Given the description of an element on the screen output the (x, y) to click on. 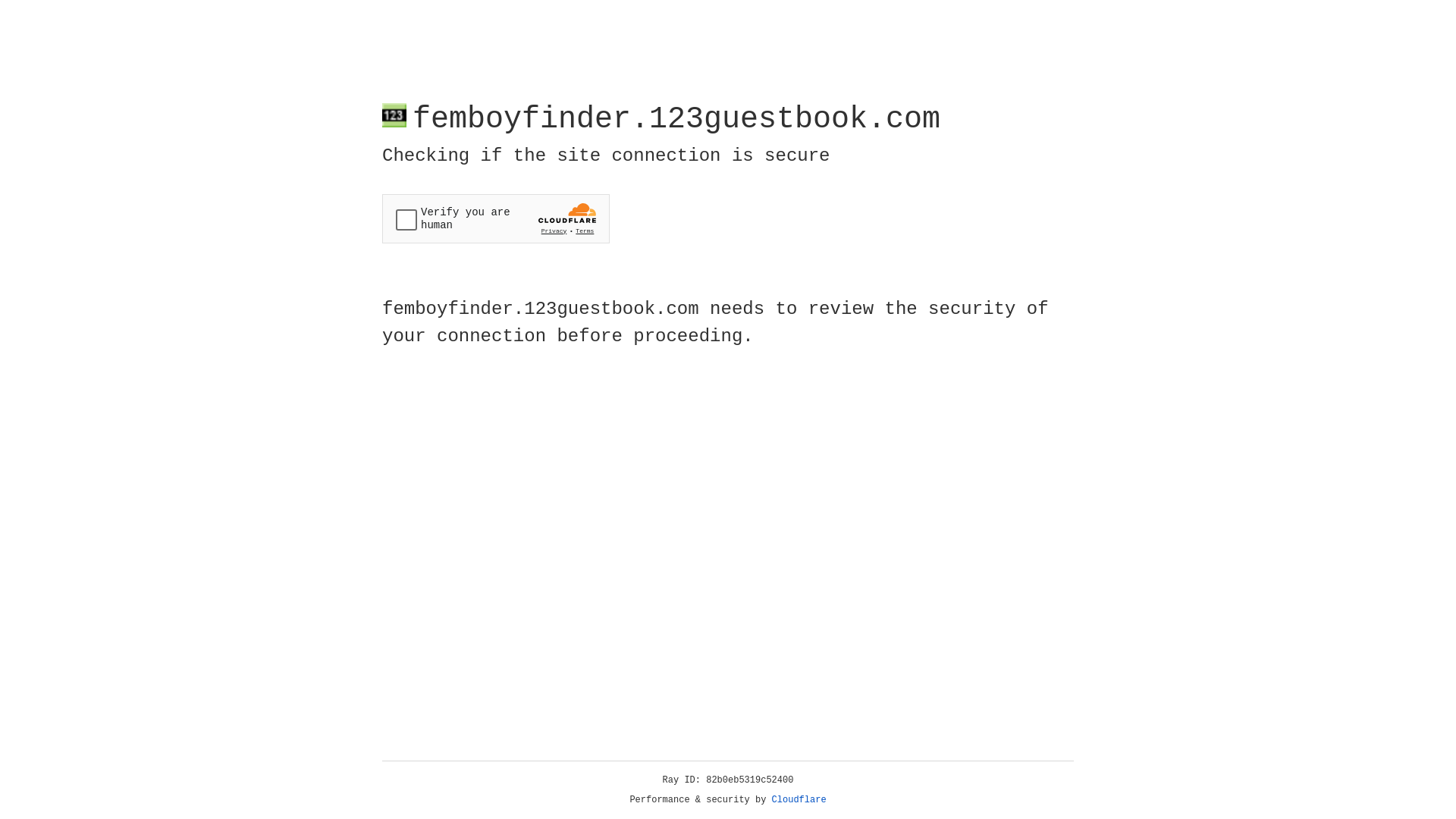
Widget containing a Cloudflare security challenge Element type: hover (495, 218)
Cloudflare Element type: text (798, 799)
